Given the description of an element on the screen output the (x, y) to click on. 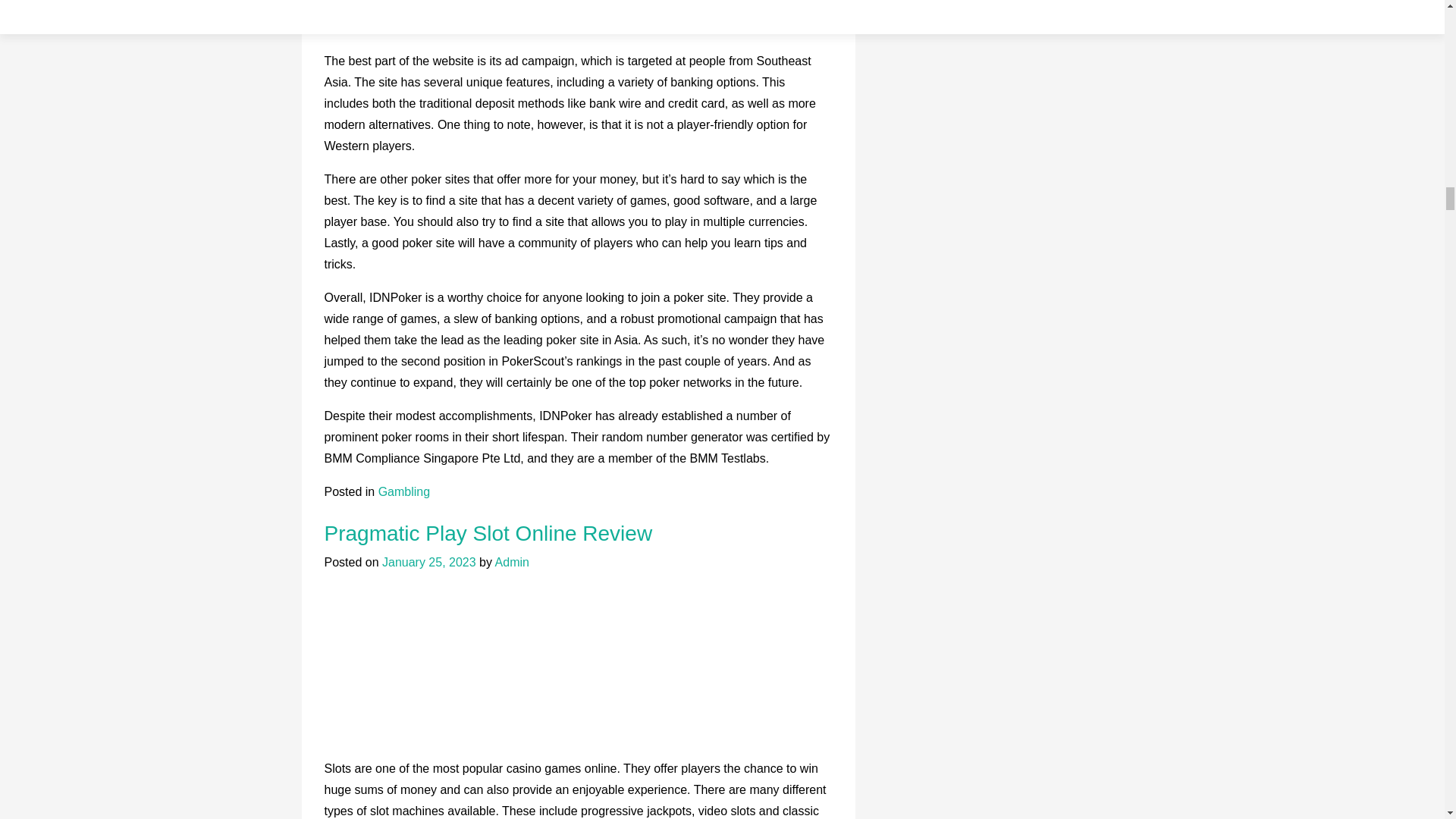
January 25, 2023 (428, 562)
Admin (512, 562)
Gambling (403, 491)
Pragmatic Play Slot Online Review (488, 533)
